Given the description of an element on the screen output the (x, y) to click on. 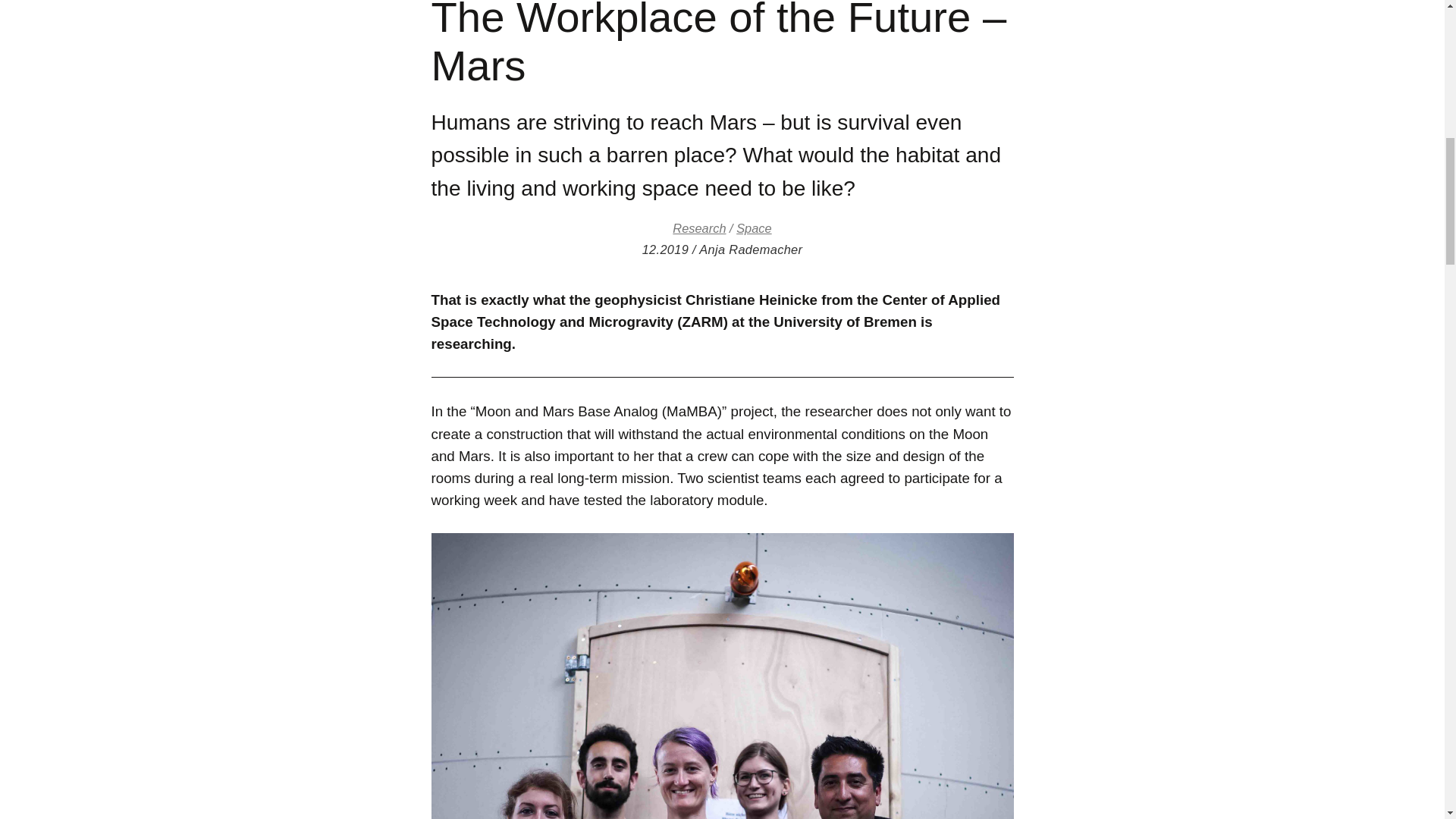
Space (753, 228)
Research (698, 228)
